Given the description of an element on the screen output the (x, y) to click on. 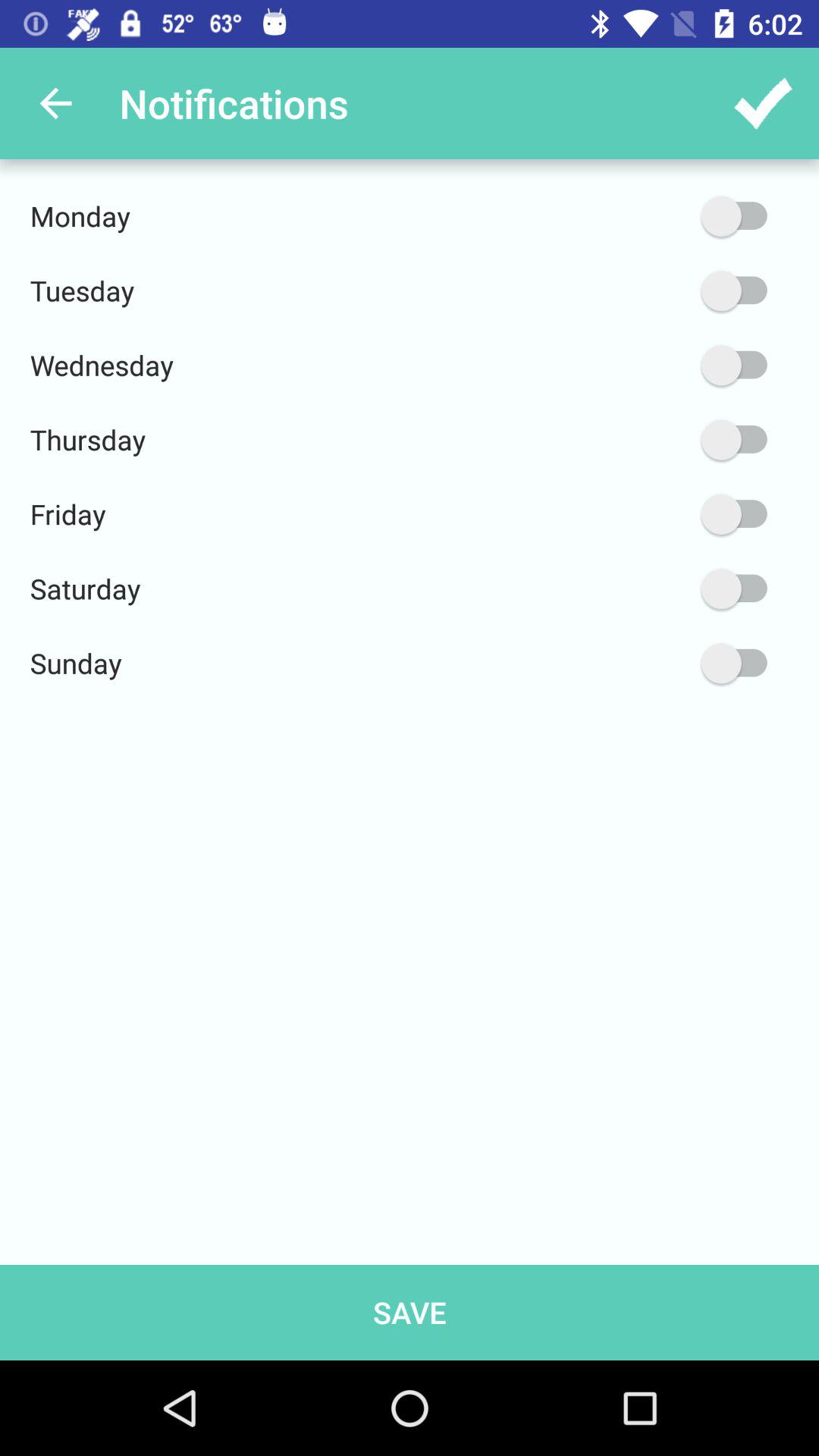
select icon next to saturday (661, 588)
